Given the description of an element on the screen output the (x, y) to click on. 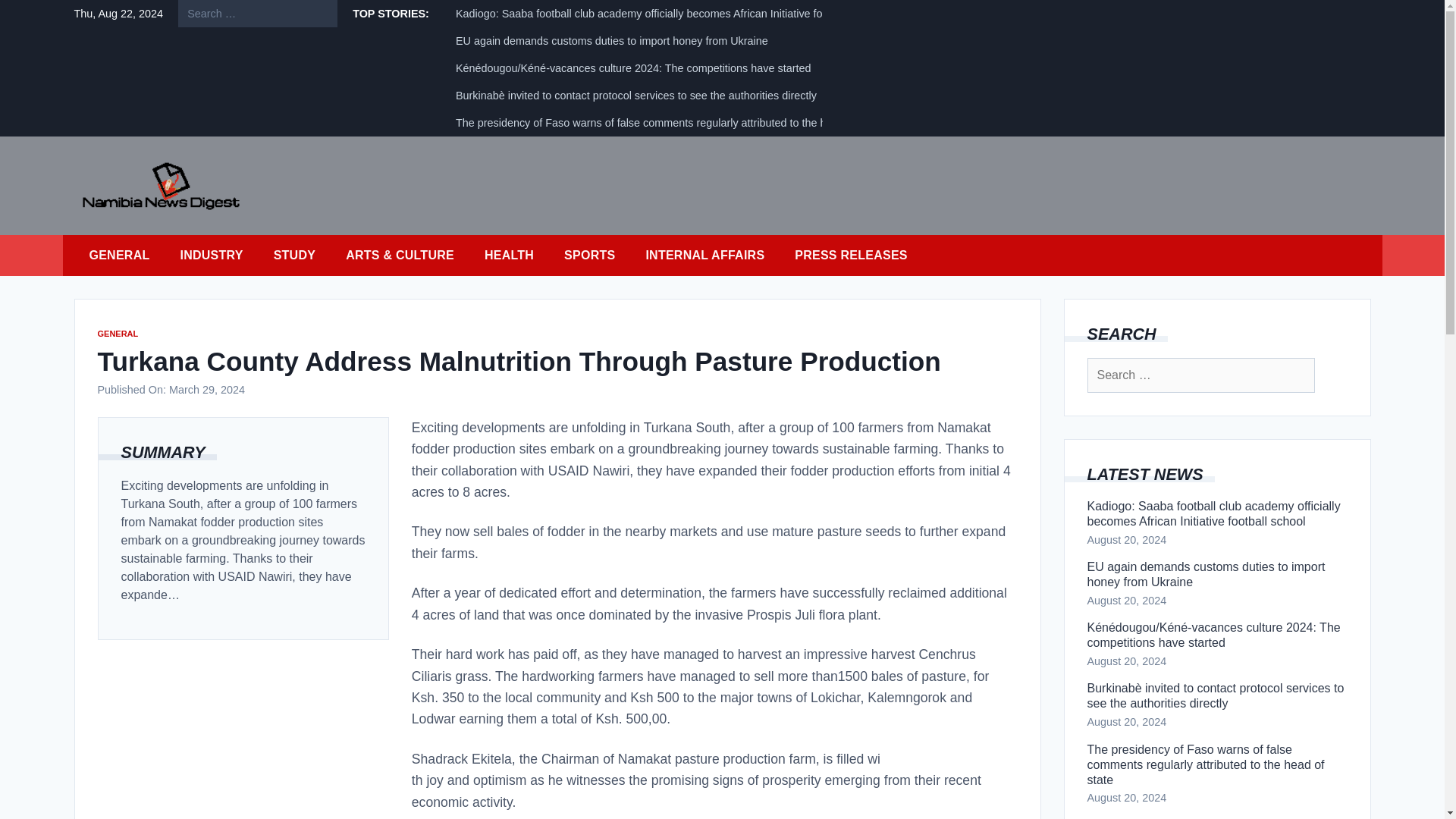
SPORTS (589, 255)
General (119, 255)
STUDY (294, 255)
EU again demands customs duties to import honey from Ukraine (611, 40)
Search (43, 18)
EU again demands customs duties to import honey from Ukraine (1217, 574)
March 29, 2024 (206, 389)
